Given the description of an element on the screen output the (x, y) to click on. 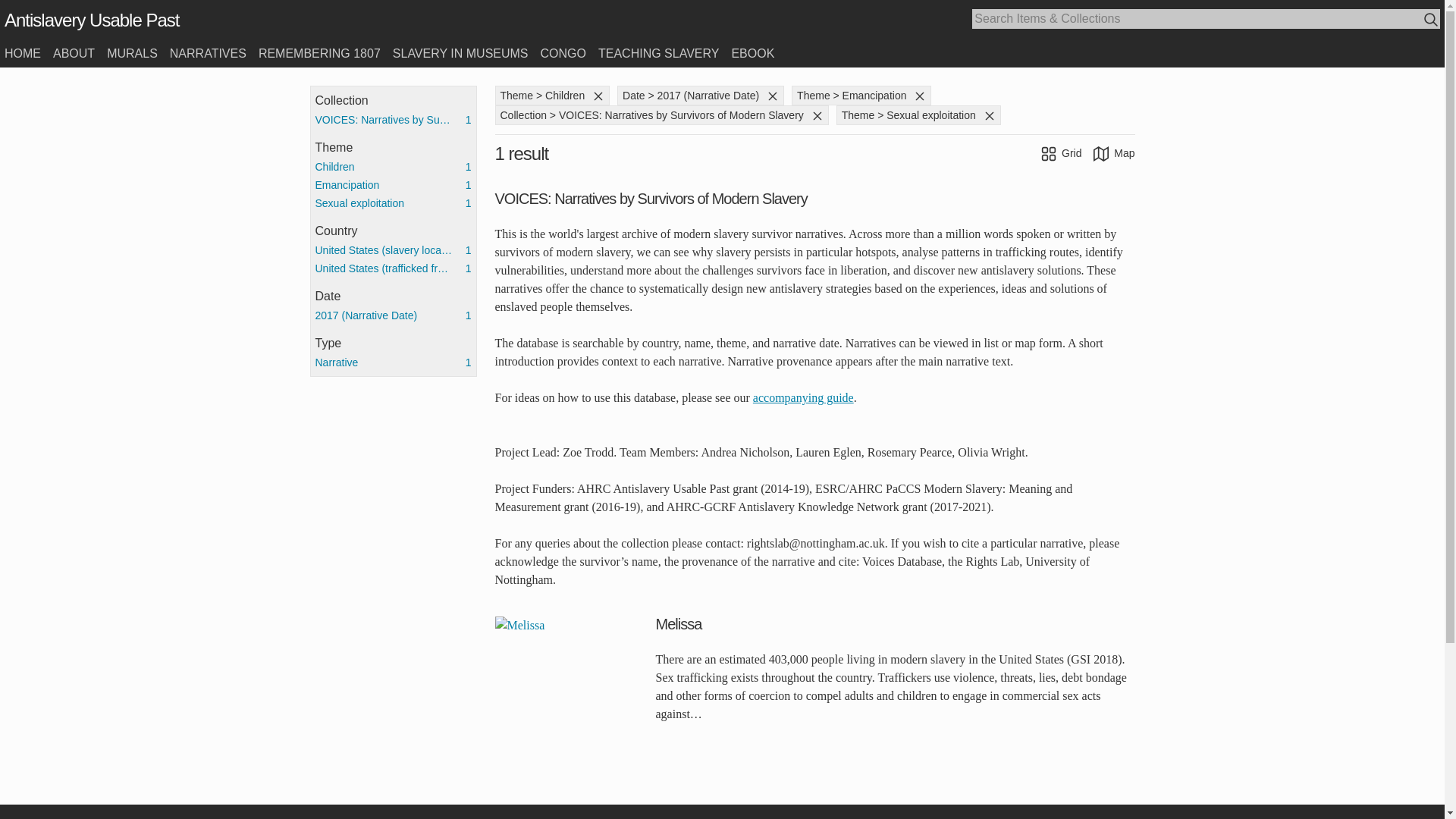
Remove (920, 96)
HOME (22, 52)
Search (1431, 19)
Remove (989, 115)
NARRATIVES (208, 52)
TEACHING SLAVERY (658, 52)
Remove (986, 114)
Sexual exploitation (393, 203)
Grid (1062, 152)
CONGO (563, 52)
Search (1431, 19)
Remove (596, 95)
EBOOK (752, 52)
Emancipation (393, 185)
Remove (917, 95)
